Given the description of an element on the screen output the (x, y) to click on. 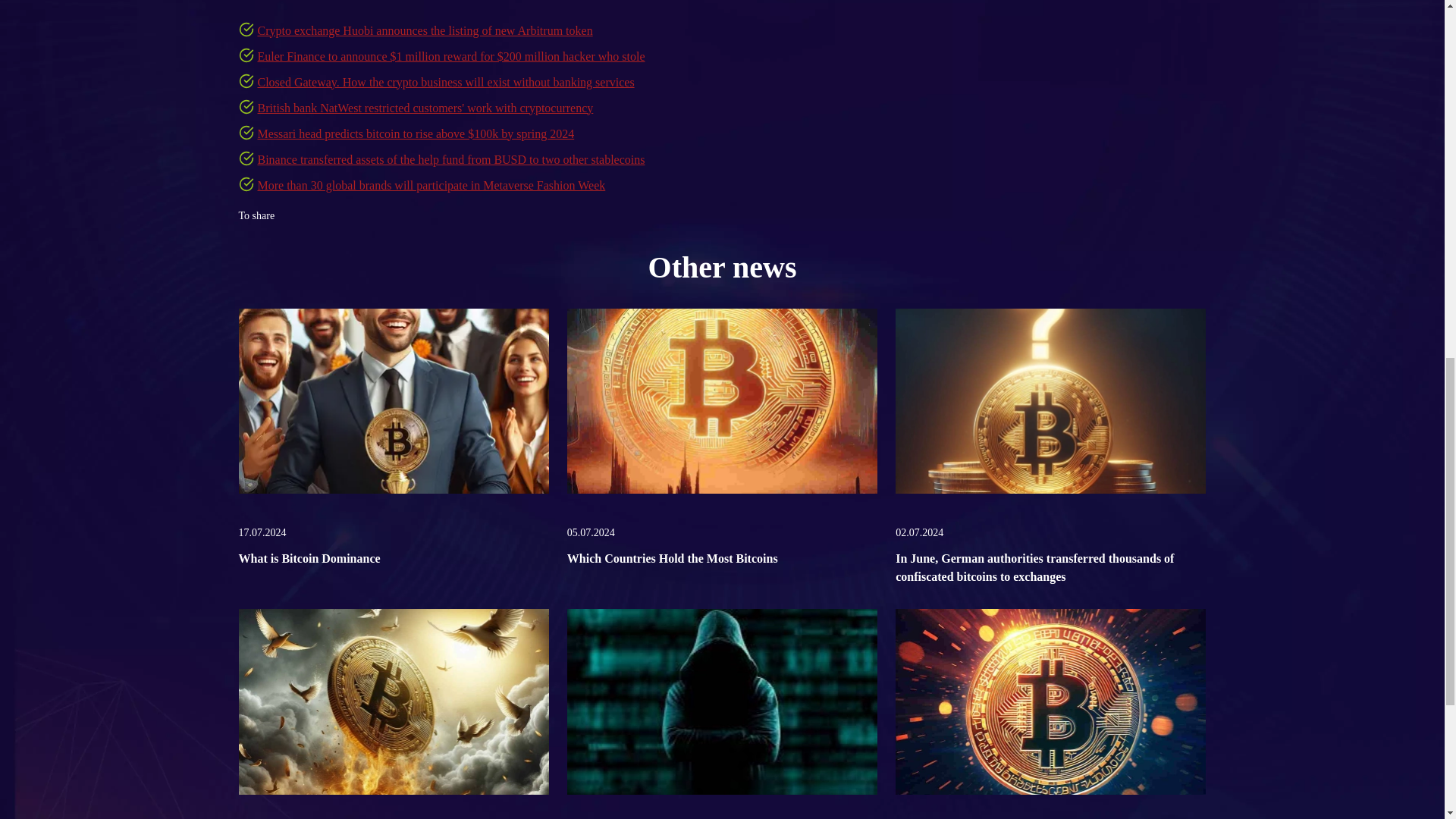
Which Countries Hold the Most Bitcoins (722, 404)
What is Bitcoin Dominance (309, 558)
What is Bitcoin Dominance (309, 558)
Which Countries Hold the Most Bitcoins (672, 558)
Which Countries Hold the Most Bitcoins (672, 558)
